Given the description of an element on the screen output the (x, y) to click on. 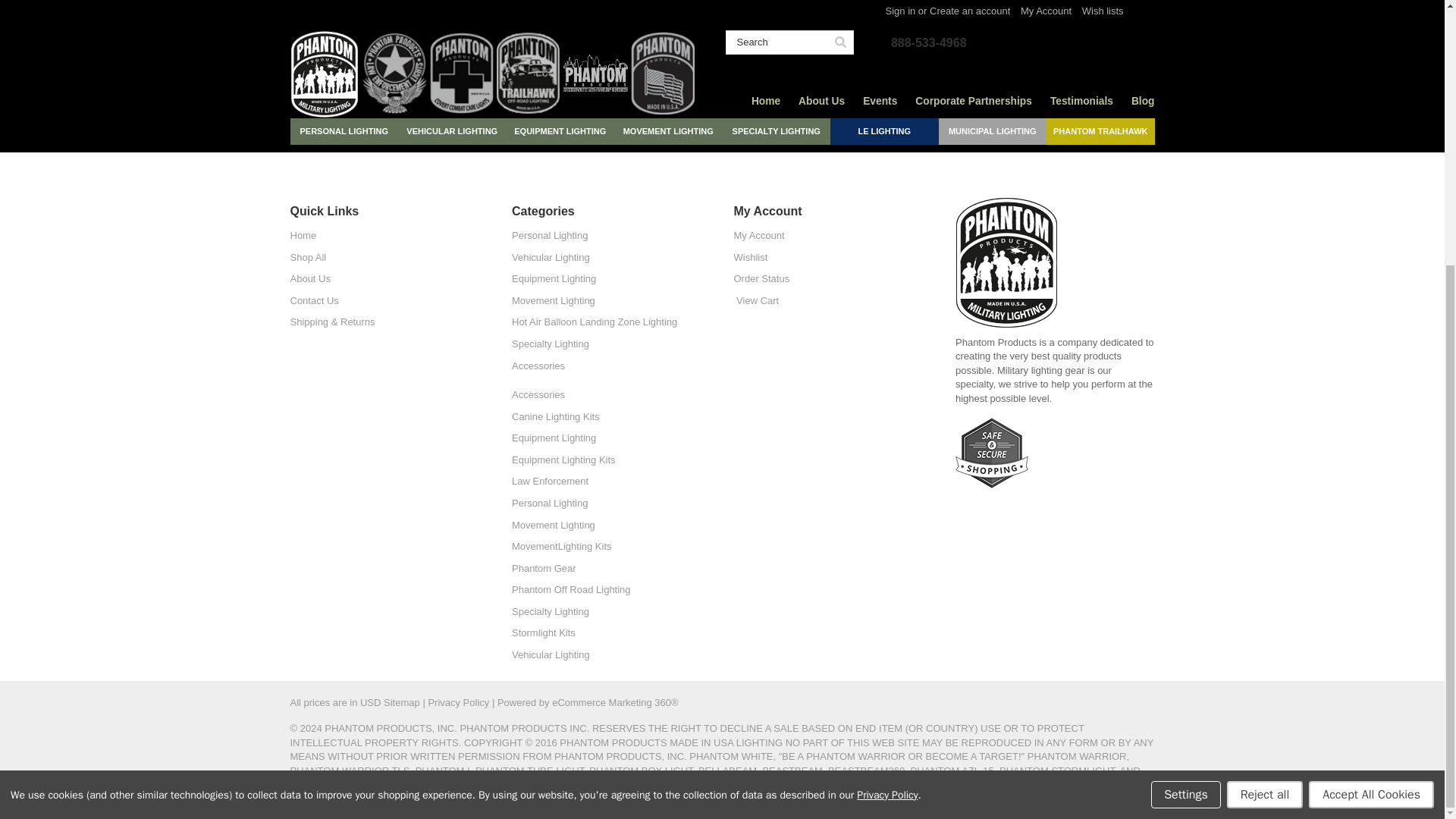
US Dollars (369, 702)
